Given the description of an element on the screen output the (x, y) to click on. 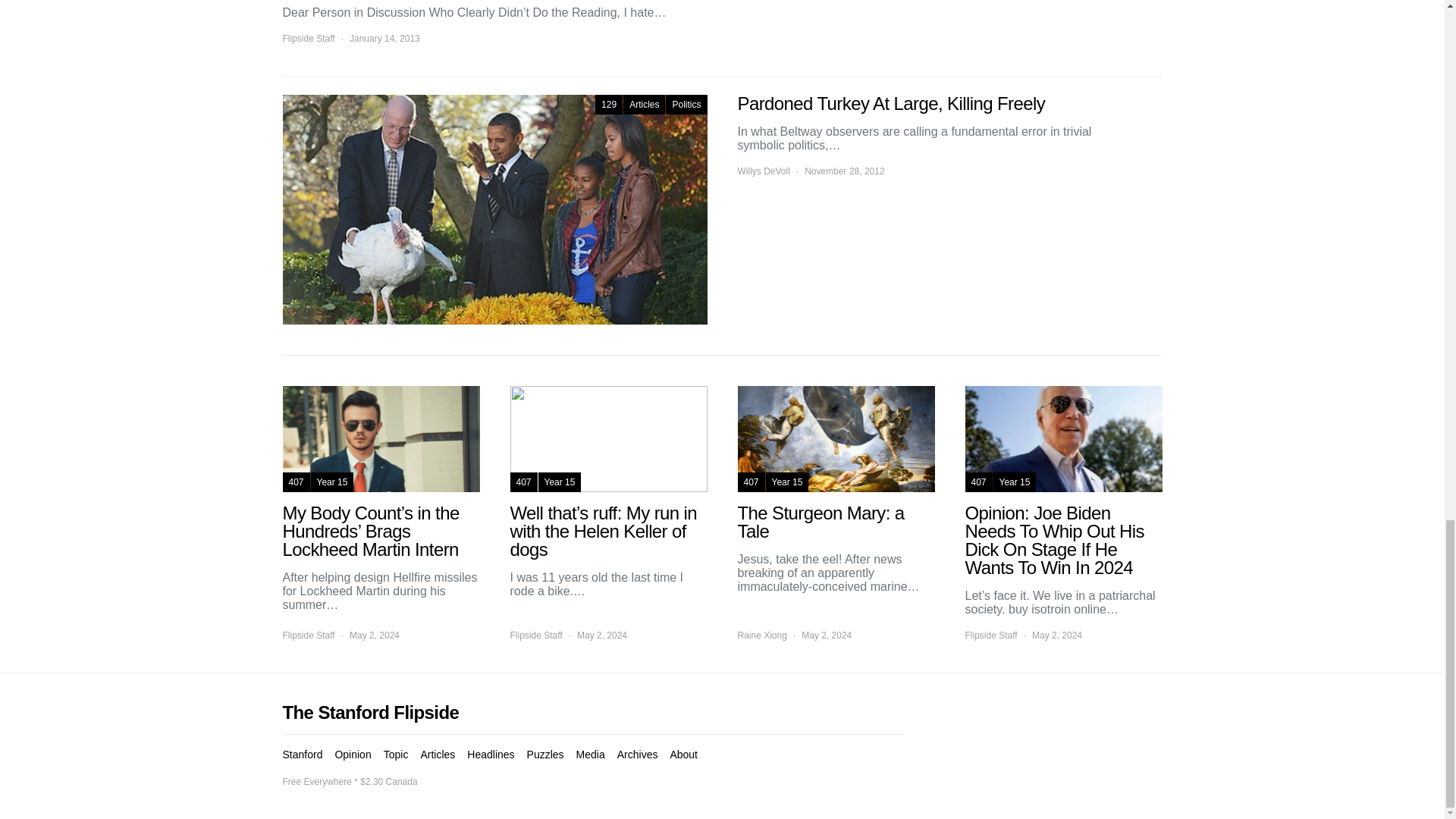
View all posts by Flipside Staff (989, 635)
View all posts by Flipside Staff (308, 38)
View all posts by Flipside Staff (308, 635)
View all posts by Flipside Staff (535, 635)
View all posts by Willys DeVoll (762, 171)
View all posts by Raine Xiong (761, 635)
